Given the description of an element on the screen output the (x, y) to click on. 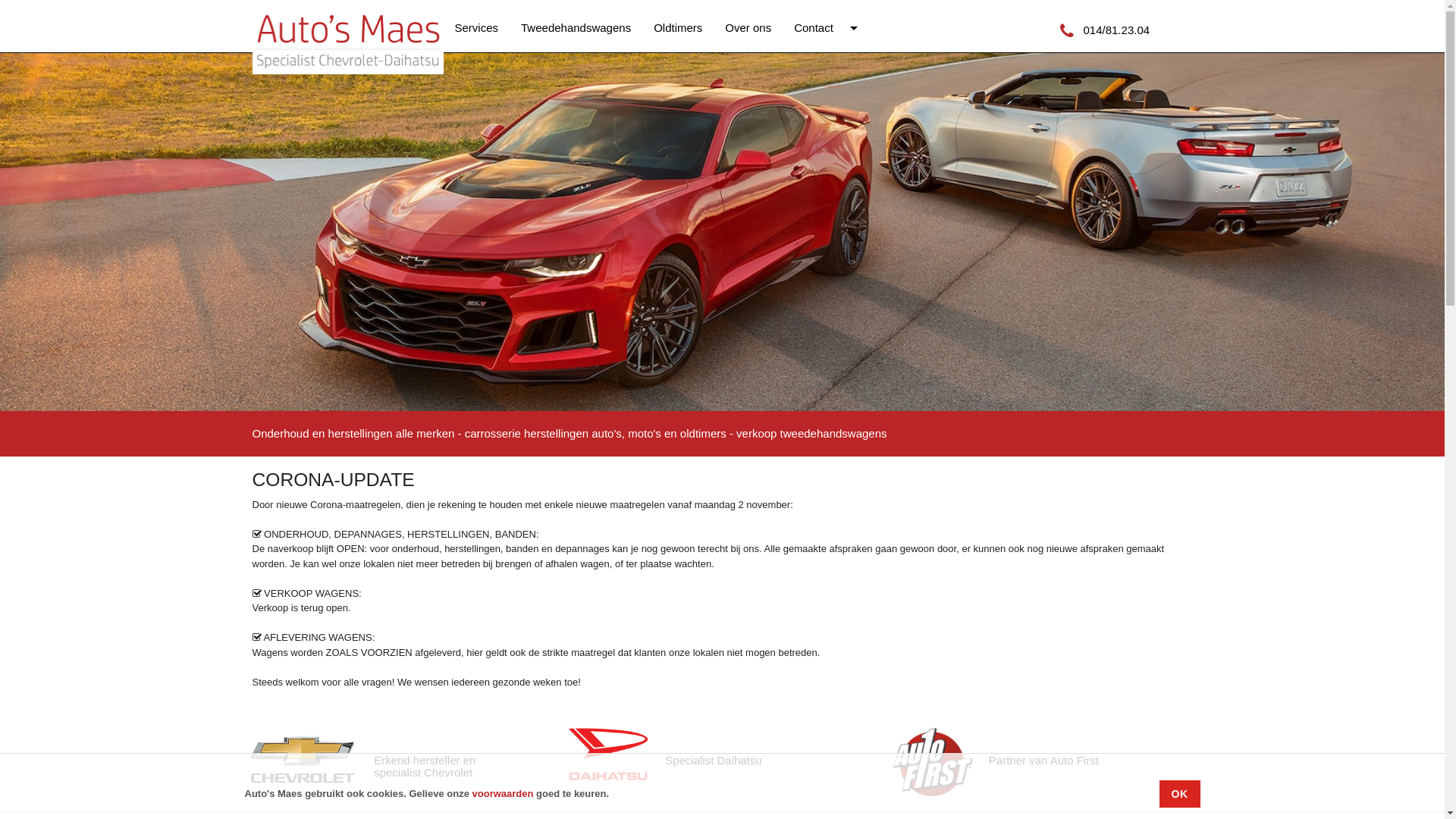
Contact
arrow_drop_down Element type: text (827, 27)
voorwaarden Element type: text (504, 793)
Tweedehandswagens Element type: text (575, 27)
OK Element type: text (1178, 793)
Over ons Element type: text (747, 27)
014/81.23.04 Element type: text (1107, 29)
Oldtimers Element type: text (677, 27)
Services Element type: text (476, 27)
